Given the description of an element on the screen output the (x, y) to click on. 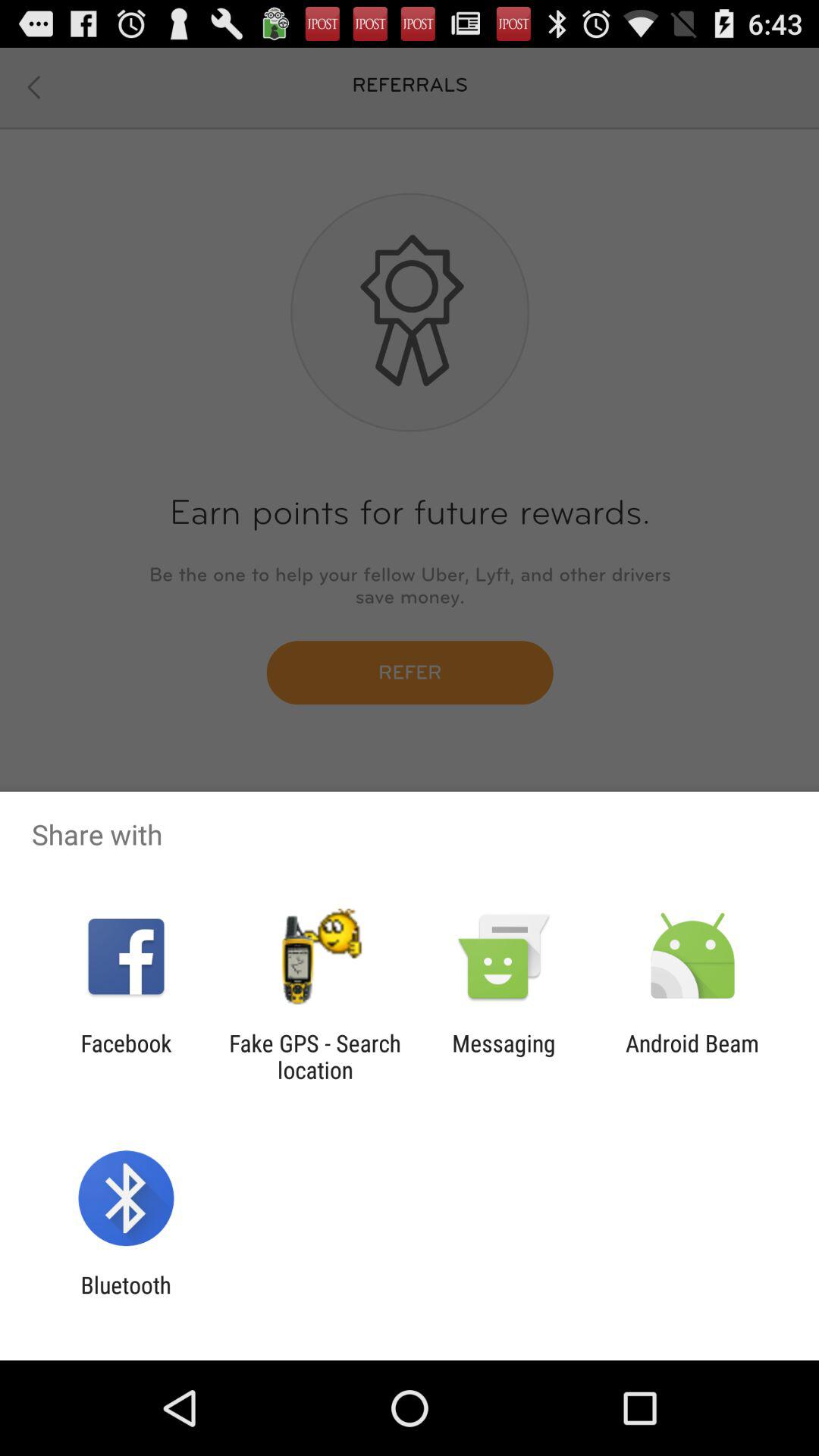
select icon to the left of android beam item (503, 1056)
